Given the description of an element on the screen output the (x, y) to click on. 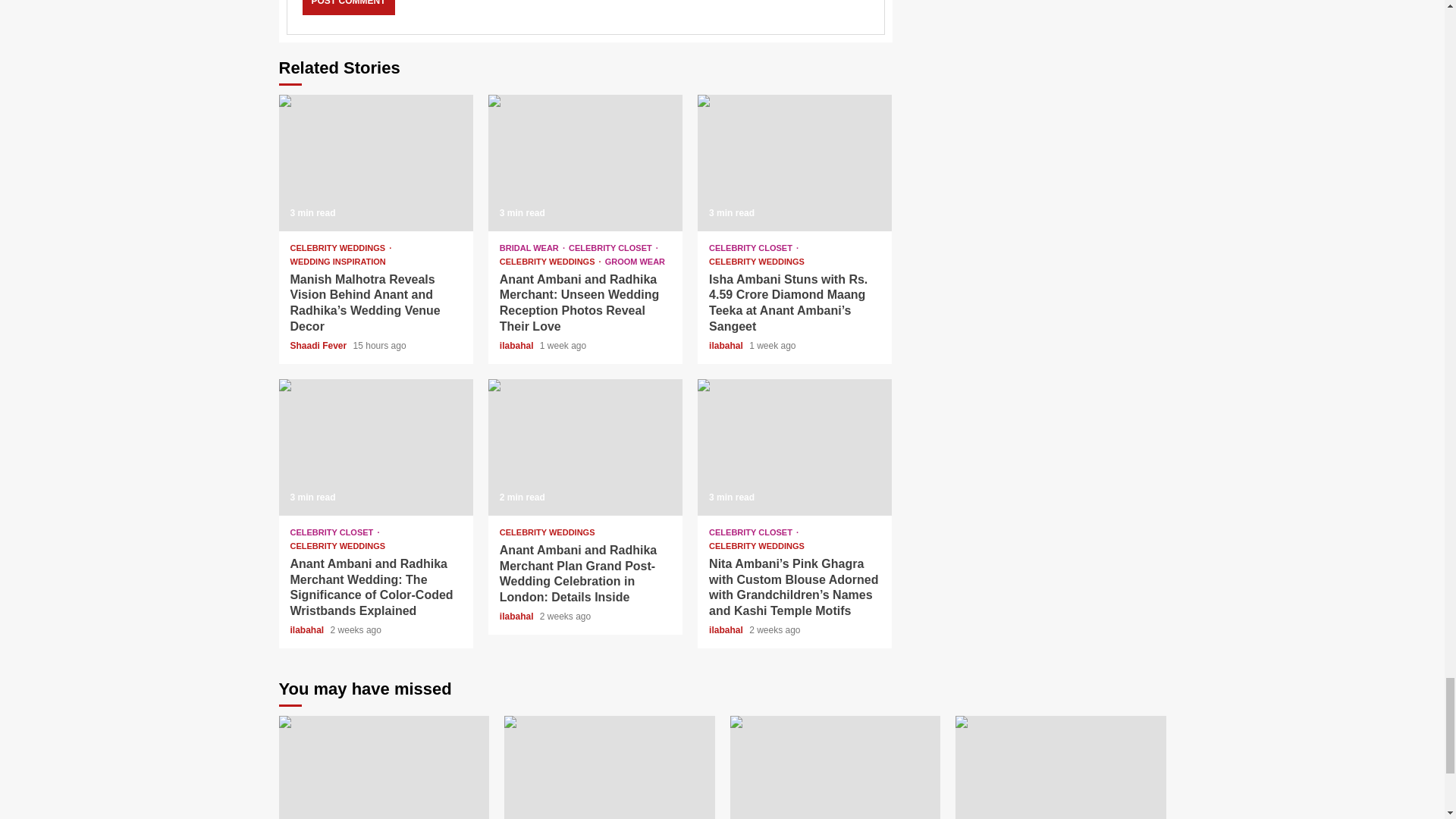
Post Comment (347, 7)
